Given the description of an element on the screen output the (x, y) to click on. 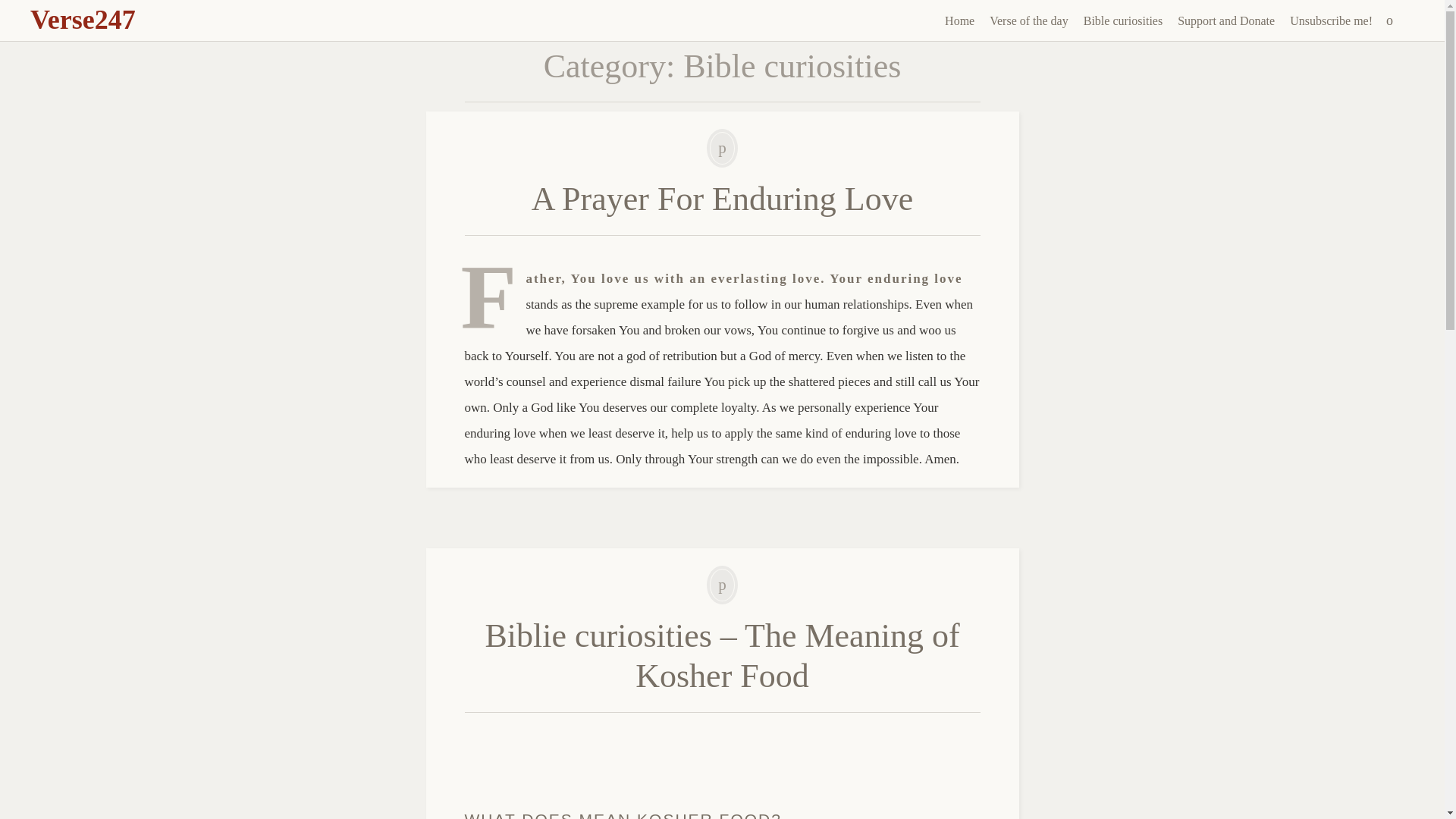
Unsubscribe me! (1331, 21)
Verse of the day (1028, 21)
Search (11, 9)
A Prayer For Enduring Love (721, 198)
Verse247 (82, 19)
Verse247 (82, 19)
Home (959, 21)
Support and Donate (1226, 21)
Bible curiosities (1122, 21)
